Given the description of an element on the screen output the (x, y) to click on. 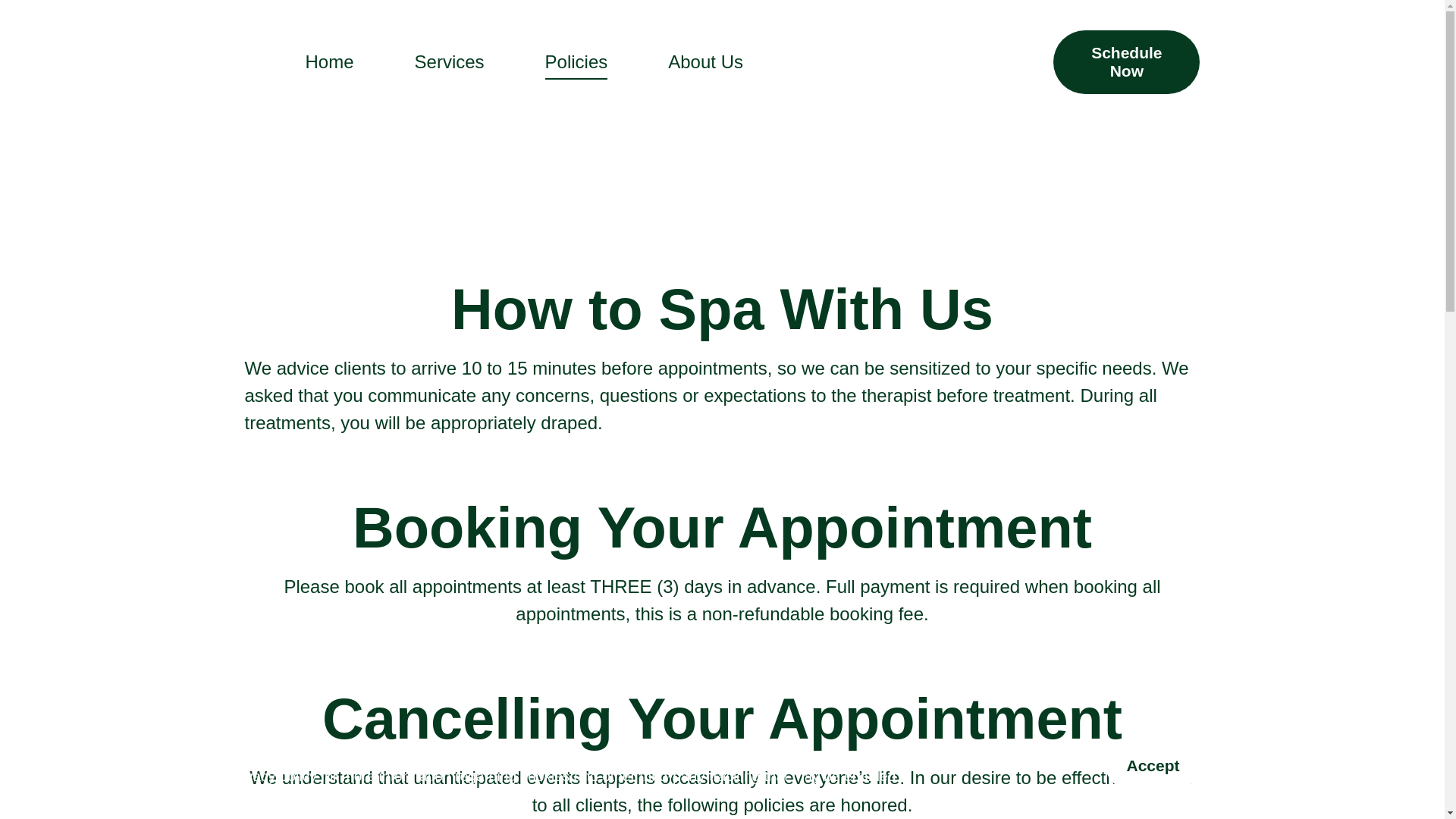
Schedule Now (1125, 62)
Accept (1152, 765)
Services (449, 61)
Home (328, 61)
About Us (705, 61)
Policies (576, 65)
